Given the description of an element on the screen output the (x, y) to click on. 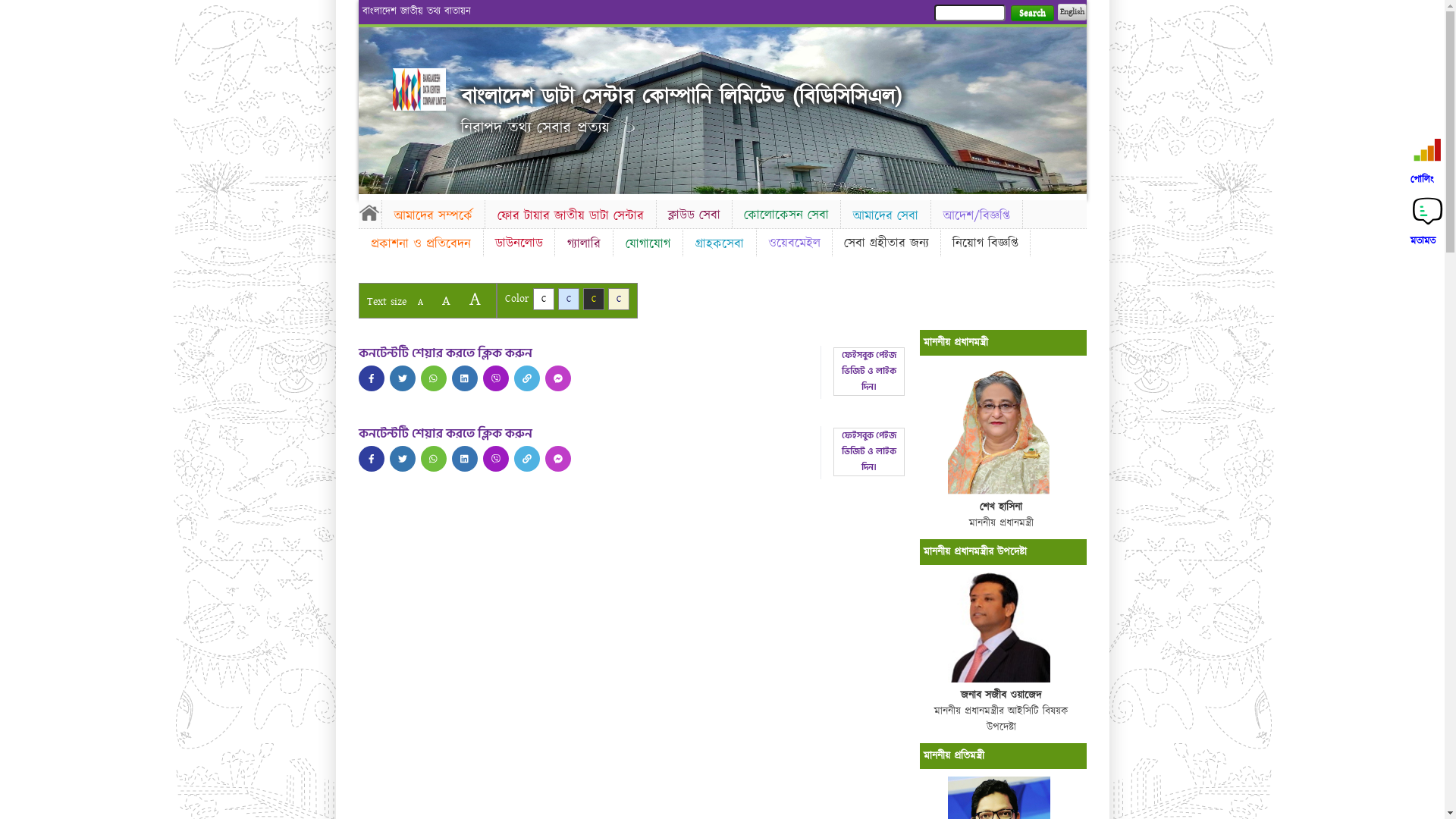
Search Element type: text (1031, 13)
A Element type: text (445, 300)
C Element type: text (592, 299)
C Element type: text (618, 299)
English Element type: text (1071, 11)
C Element type: text (568, 299)
Home Element type: hover (368, 211)
A Element type: text (419, 301)
C Element type: text (542, 299)
Home Element type: hover (418, 89)
A Element type: text (474, 298)
